Given the description of an element on the screen output the (x, y) to click on. 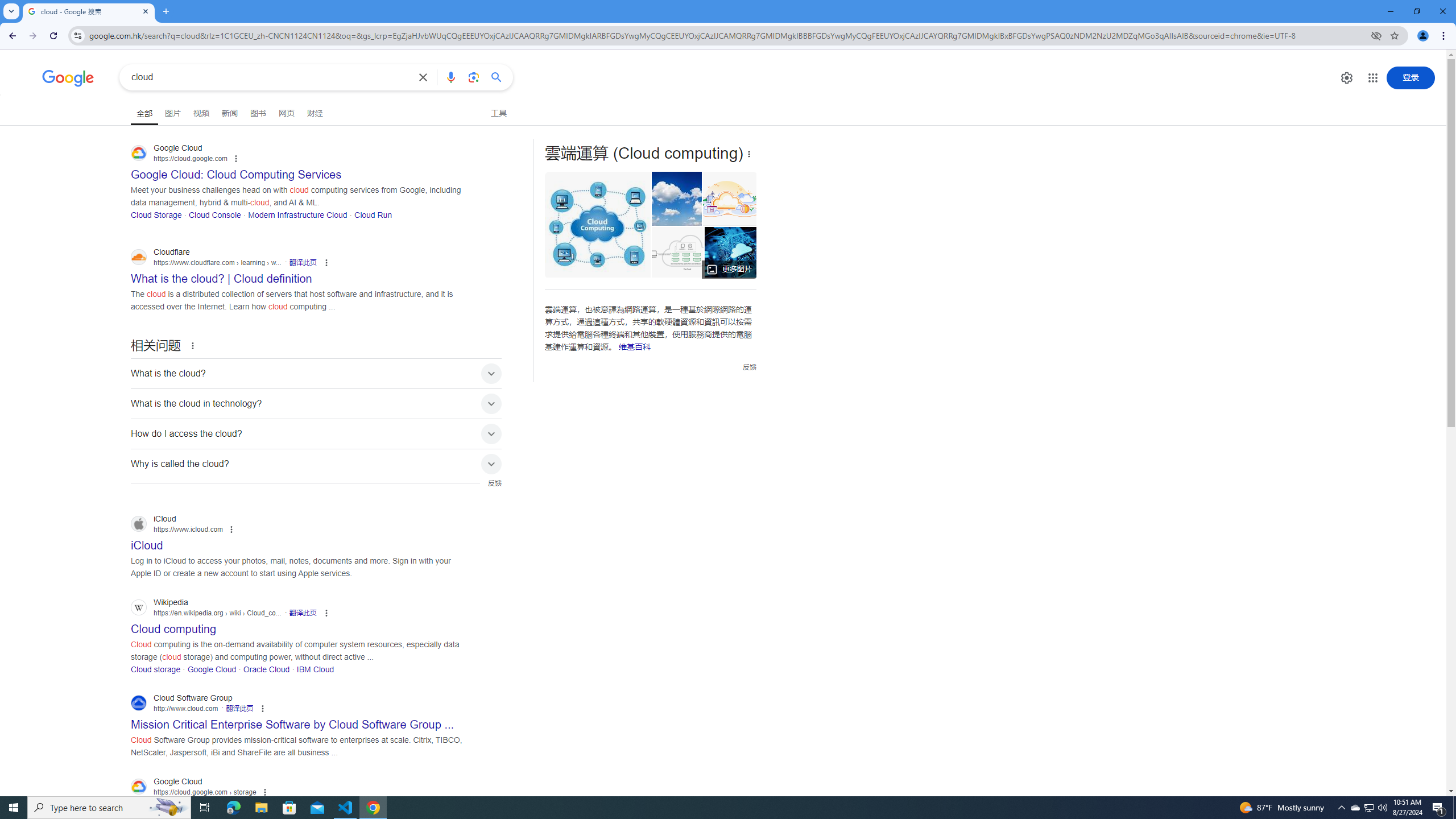
Google (68, 78)
Third-party cookies blocked (1376, 35)
What is cloud computing? Everything you need to know now ... (730, 251)
How do I access the cloud? (316, 433)
What is the cloud? | Cloud definition | Cloudflare (679, 251)
Connectivity Cloud | Cloudflare (726, 198)
